Given the description of an element on the screen output the (x, y) to click on. 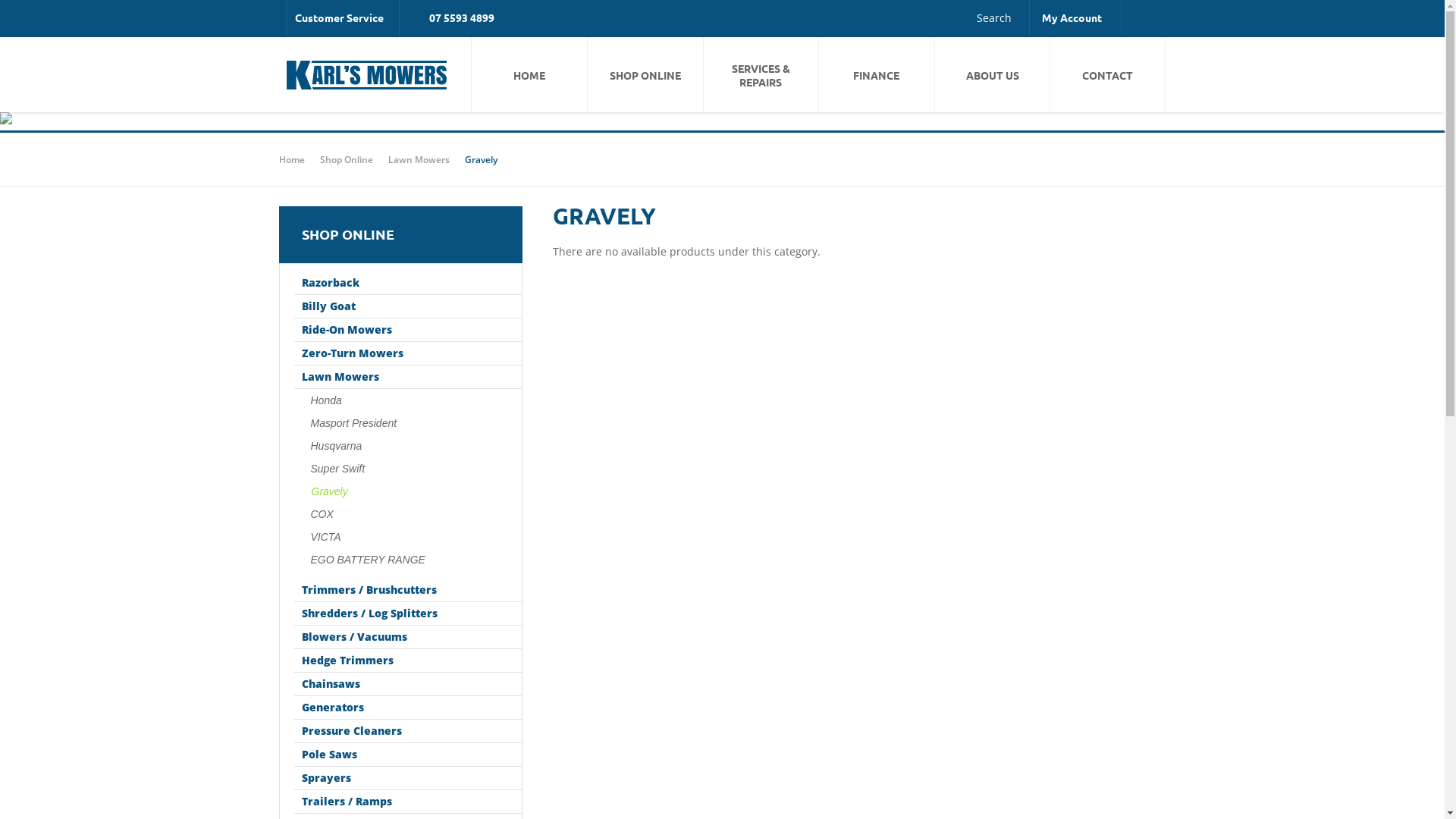
Honda Element type: text (407, 400)
Hedge Trimmers Element type: text (407, 660)
COX Element type: text (407, 513)
07 5593 4899 Element type: text (461, 17)
Shredders / Log Splitters Element type: text (407, 613)
Masport President Element type: text (407, 422)
Home Element type: text (291, 159)
ABOUT US Element type: text (992, 74)
Gravely Element type: text (407, 491)
Shop Online Element type: text (346, 159)
Pole Saws Element type: text (407, 754)
Blowers / Vacuums Element type: text (407, 637)
Sprayers Element type: text (407, 778)
Trimmers / Brushcutters Element type: text (407, 590)
VICTA Element type: text (407, 536)
Ride-On Mowers Element type: text (407, 330)
Karl's Mowers Element type: hover (366, 74)
Generators Element type: text (407, 707)
Customer Service Element type: text (342, 18)
Billy Goat Element type: text (407, 306)
EGO BATTERY RANGE Element type: text (407, 559)
Razorback Element type: text (407, 282)
SHOP ONLINE Element type: text (644, 74)
Pressure Cleaners Element type: text (407, 731)
Lawn Mowers Element type: text (407, 377)
Super Swift Element type: text (407, 468)
SERVICES & REPAIRS Element type: text (760, 74)
HOME Element type: text (528, 74)
Husqvarna Element type: text (407, 445)
Trailers / Ramps Element type: text (407, 801)
Lawn Mowers Element type: text (419, 159)
Chainsaws Element type: text (407, 684)
CONTACT Element type: text (1107, 74)
Zero-Turn Mowers Element type: text (407, 353)
FINANCE Element type: text (876, 74)
